Given the description of an element on the screen output the (x, y) to click on. 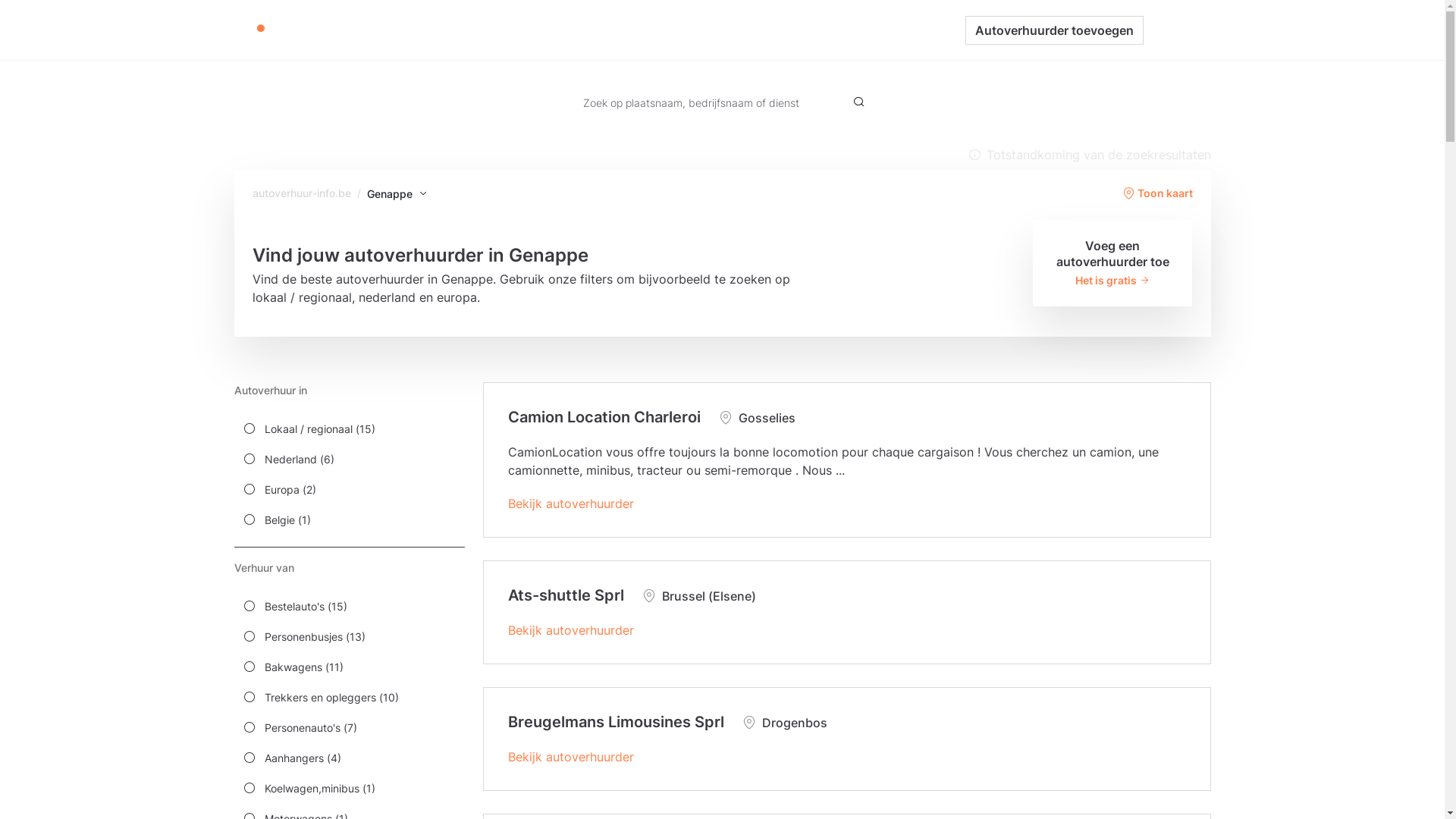
Het is gratis Element type: text (1112, 280)
Bekijk autoverhuurder Element type: text (570, 756)
Autoverhuurder toevoegen Element type: text (1053, 29)
Toon kaart Element type: text (1157, 192)
Genappe Element type: text (398, 193)
Autoverhuurder zoeken Element type: text (645, 29)
Bekijk autoverhuurder Element type: text (570, 629)
Breugelmans Limousines Sprl Element type: text (616, 721)
Totstandkoming van de zoekresultaten Element type: text (1088, 154)
Bekijk autoverhuurder Element type: text (570, 503)
Belgie (1) Element type: text (348, 519)
Nederland (6) Element type: text (348, 458)
autoverhuur-info.be Element type: text (300, 192)
Camion Location Charleroi Element type: text (604, 416)
Trekkers en opleggers (10) Element type: text (348, 696)
Personenauto's (7) Element type: text (348, 727)
Ats-shuttle Sprl Element type: text (566, 595)
Lokaal / regionaal (15) Element type: text (348, 428)
Personenbusjes (13) Element type: text (348, 636)
Koelwagen,minibus (1) Element type: text (348, 787)
Inloggen Element type: text (1177, 29)
Vraagbaak Element type: text (755, 29)
Europa (2) Element type: text (348, 488)
Aanhangers (4) Element type: text (348, 757)
Bakwagens (11) Element type: text (348, 666)
Bestelauto's (15) Element type: text (348, 605)
